Given the description of an element on the screen output the (x, y) to click on. 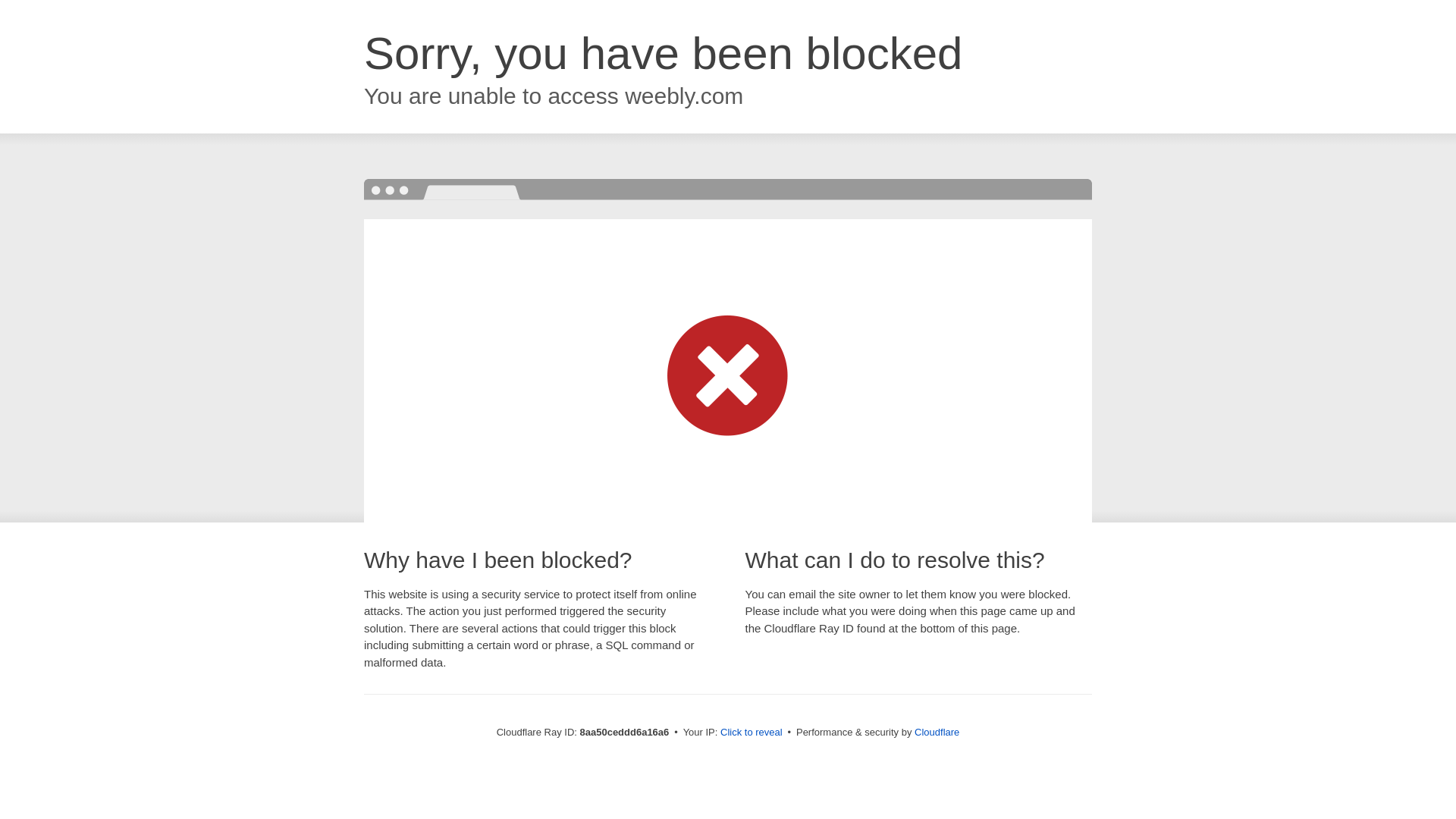
Cloudflare (936, 731)
Click to reveal (751, 732)
